Given the description of an element on the screen output the (x, y) to click on. 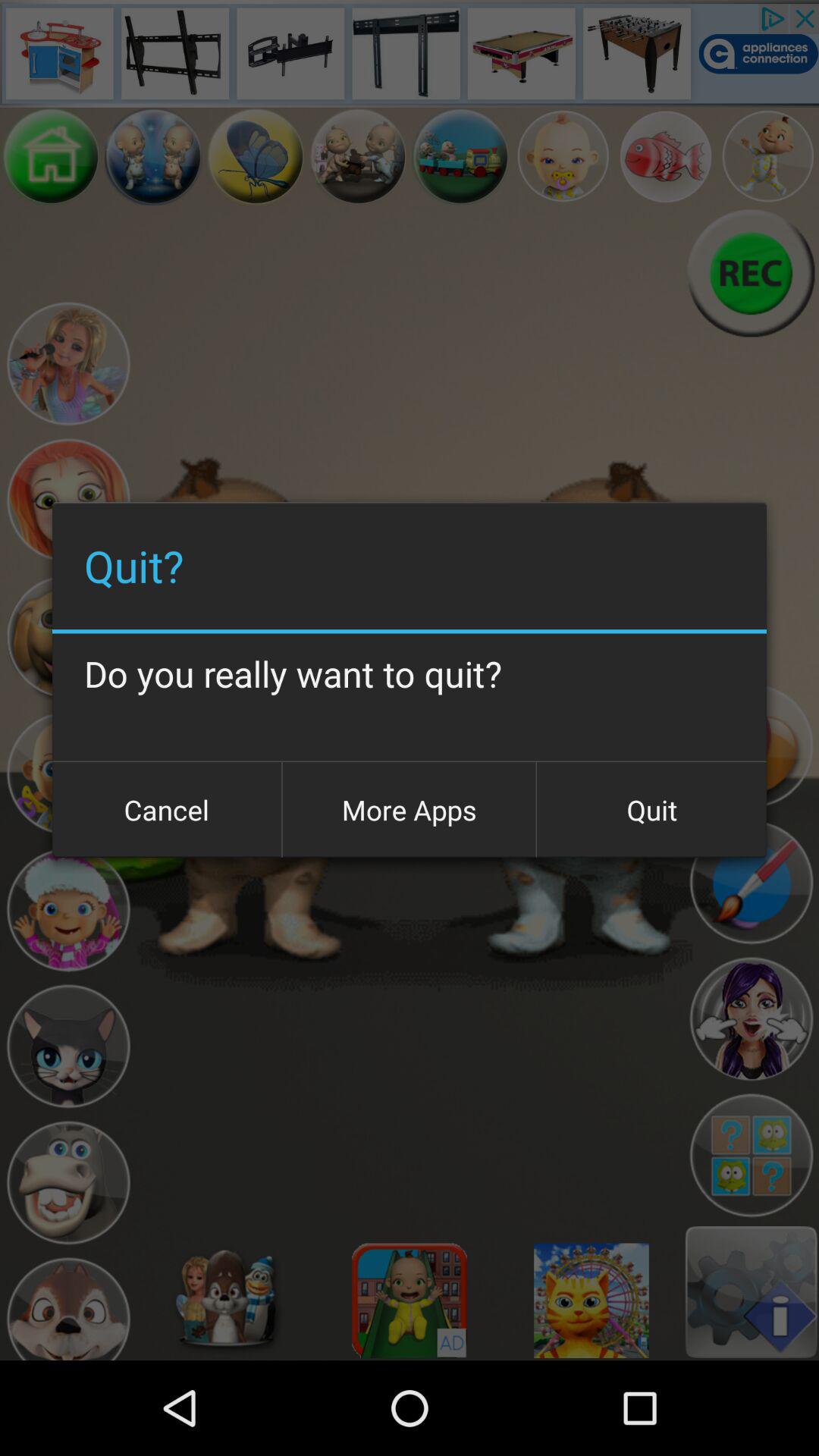
select the game app (51, 156)
